Given the description of an element on the screen output the (x, y) to click on. 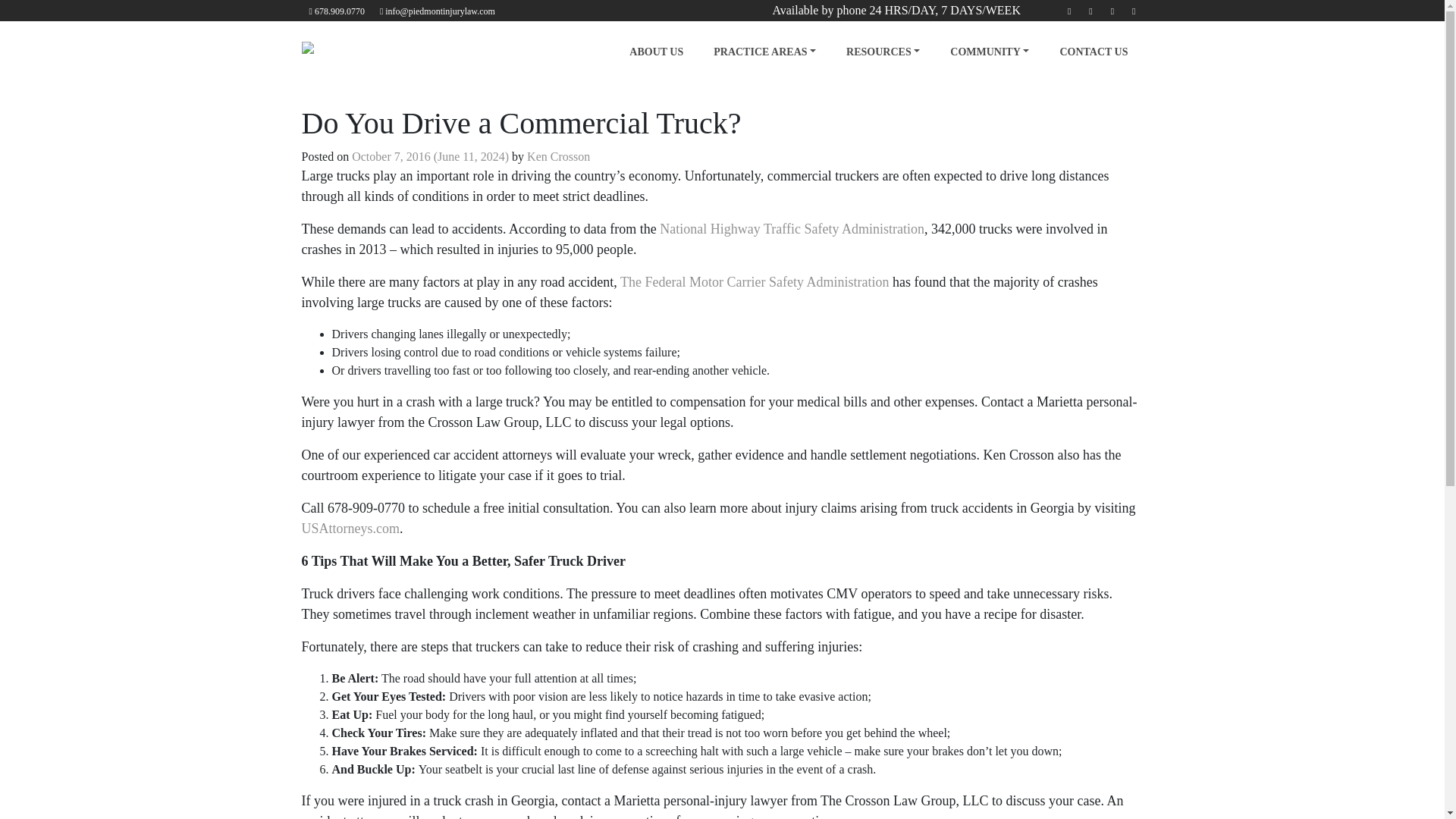
Resources (882, 51)
The Federal Motor Carrier Safety Administration (754, 281)
PRACTICE AREAS (764, 51)
COMMUNITY (988, 51)
National Highway Traffic Safety Administration (791, 228)
Contact Us (1092, 51)
CONTACT US (1092, 51)
About Us (656, 51)
ABOUT US (656, 51)
Practice Areas (764, 51)
678.909.0770 (336, 10)
Community (988, 51)
USAttorneys.com (350, 528)
RESOURCES (882, 51)
Ken Crosson (558, 155)
